Given the description of an element on the screen output the (x, y) to click on. 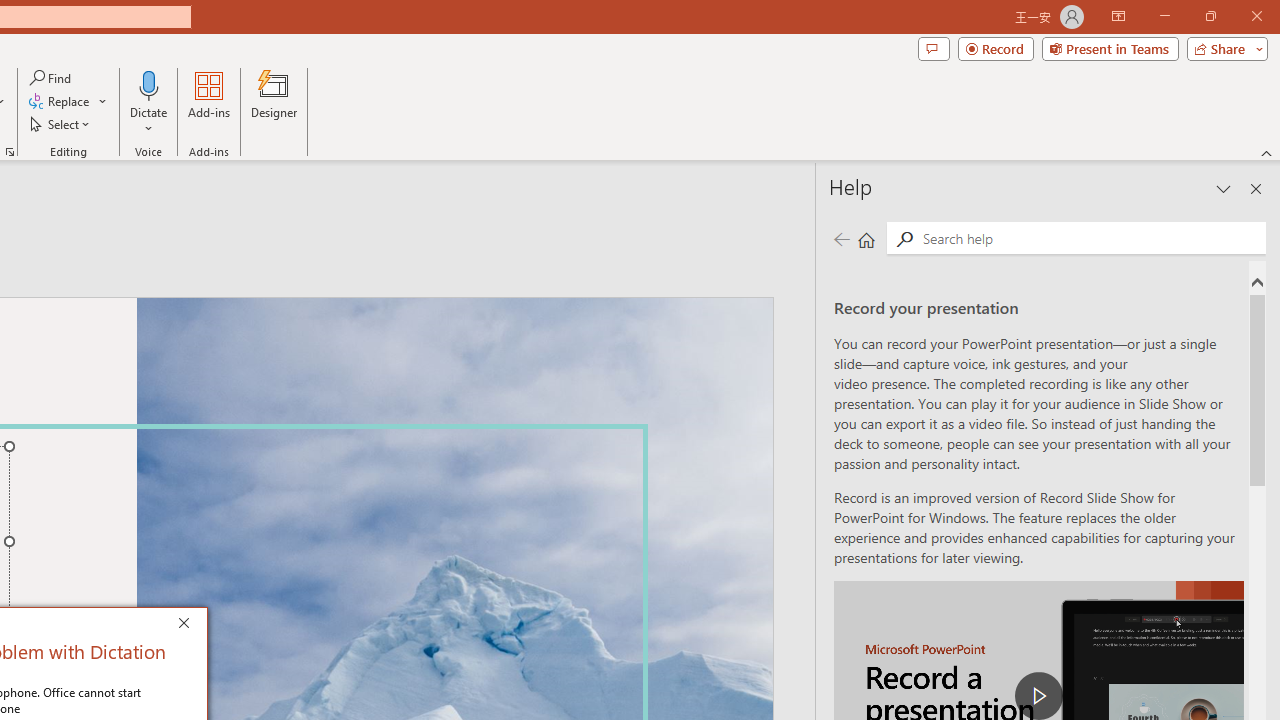
Previous page (841, 238)
